Given the description of an element on the screen output the (x, y) to click on. 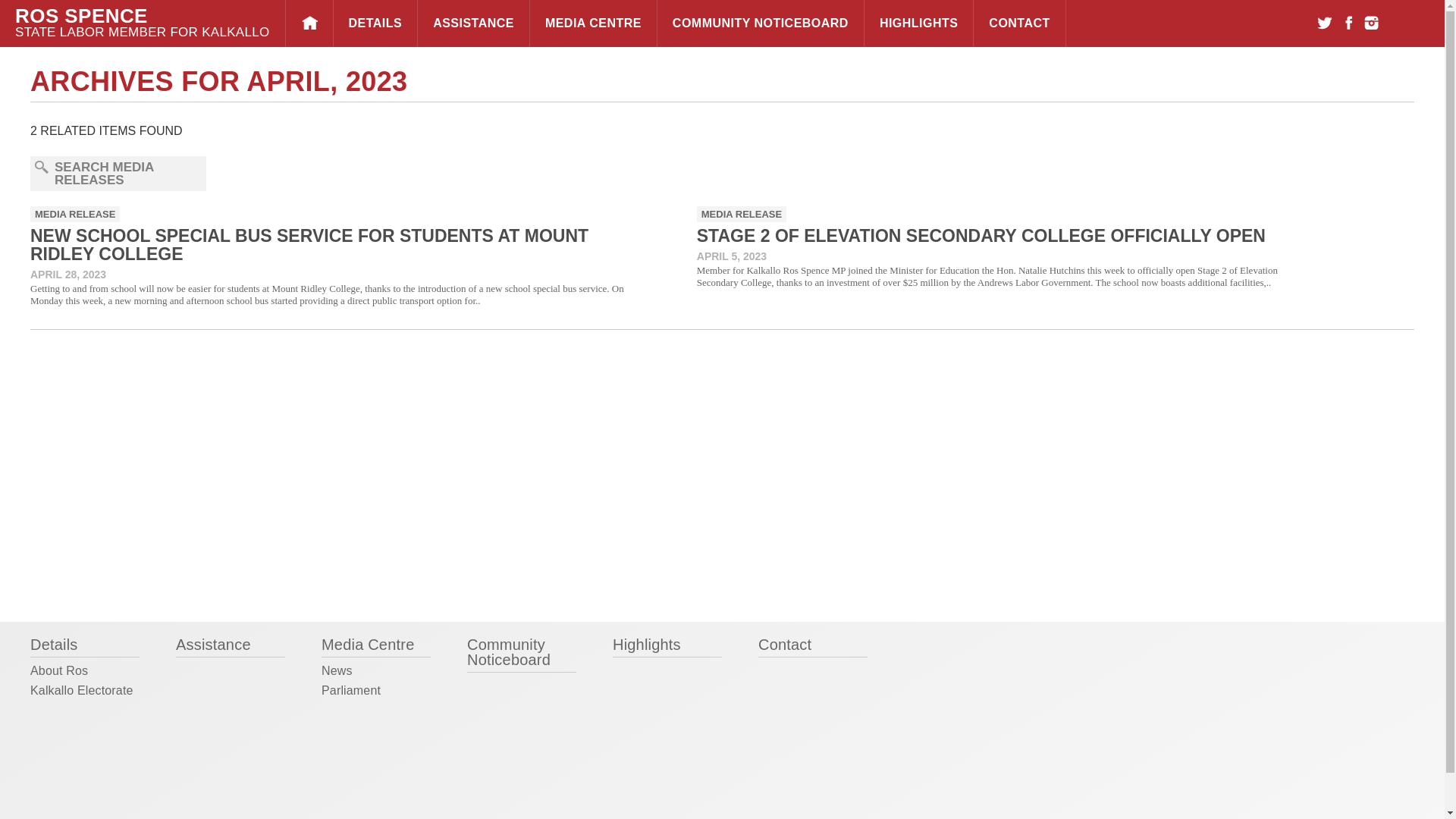
HOME (309, 23)
DETAILS (375, 23)
STATE LABOR MEMBER FOR KALKALLO (141, 31)
COMMUNITY NOTICEBOARD (760, 23)
CONTACT (1019, 23)
ROS SPENCE (141, 15)
MEDIA CENTRE (592, 23)
HIGHLIGHTS (918, 23)
ASSISTANCE (473, 23)
